Given the description of an element on the screen output the (x, y) to click on. 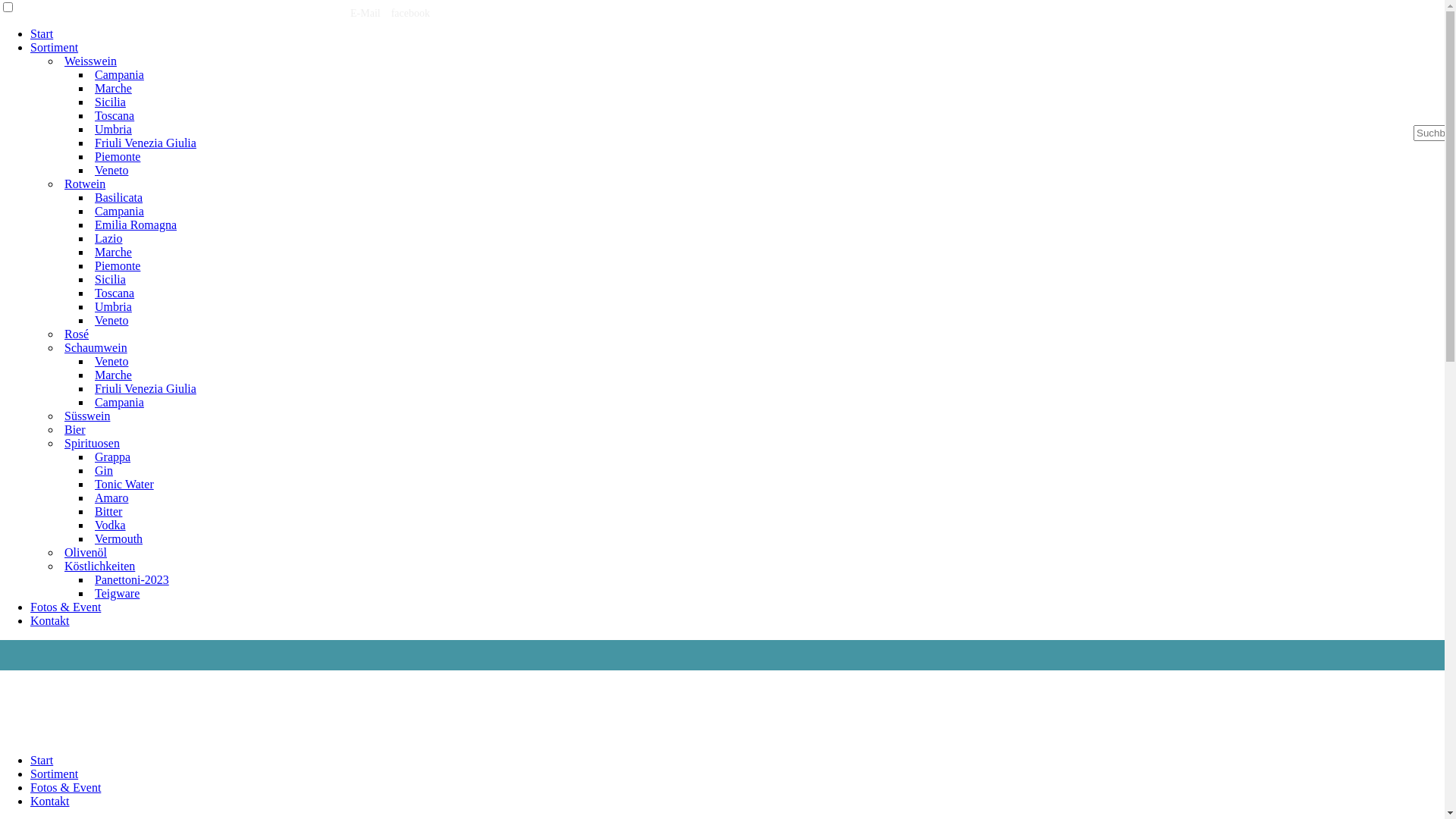
Marche Element type: text (113, 88)
Veneto Element type: text (111, 170)
Sortiment Element type: text (54, 46)
Fotos & Event Element type: text (65, 787)
Basilicata Element type: text (118, 197)
Bitter Element type: text (108, 511)
Panettoni-2023 Element type: text (131, 579)
Sicilia Element type: text (110, 101)
Marche Element type: text (113, 374)
Grappa Element type: text (112, 456)
Bier Element type: text (74, 429)
Vermouth Element type: text (118, 538)
Campania Element type: text (119, 402)
Tonic Water Element type: text (124, 483)
Campania Element type: text (119, 74)
Veneto Element type: text (111, 320)
E-Mail Element type: text (365, 12)
Sicilia Element type: text (110, 279)
Sortiment Element type: text (54, 773)
Marche Element type: text (113, 251)
Lazio Element type: text (108, 238)
Toscana Element type: text (114, 115)
facebook Element type: text (410, 12)
Umbria Element type: text (113, 129)
  Element type: text (346, 12)
Piemonte Element type: text (117, 265)
Veneto Element type: text (111, 361)
Fotos & Event Element type: text (65, 606)
Friuli Venezia Giulia Element type: text (145, 142)
Start Element type: text (41, 759)
Schaumwein Element type: text (95, 347)
Emilia Romagna Element type: text (135, 224)
Campania Element type: text (119, 210)
Rotwein Element type: text (84, 183)
Spirituosen Element type: text (91, 443)
Gin Element type: text (103, 470)
Teigware Element type: text (117, 593)
  Element type: text (389, 12)
Kontakt Element type: text (49, 620)
Friuli Venezia Giulia Element type: text (145, 388)
Umbria Element type: text (113, 306)
Piemonte Element type: text (117, 156)
Kontakt Element type: text (49, 800)
Start Element type: text (41, 33)
Vodka Element type: text (110, 524)
Amaro Element type: text (111, 497)
Toscana Element type: text (114, 292)
Weisswein Element type: text (90, 60)
